Given the description of an element on the screen output the (x, y) to click on. 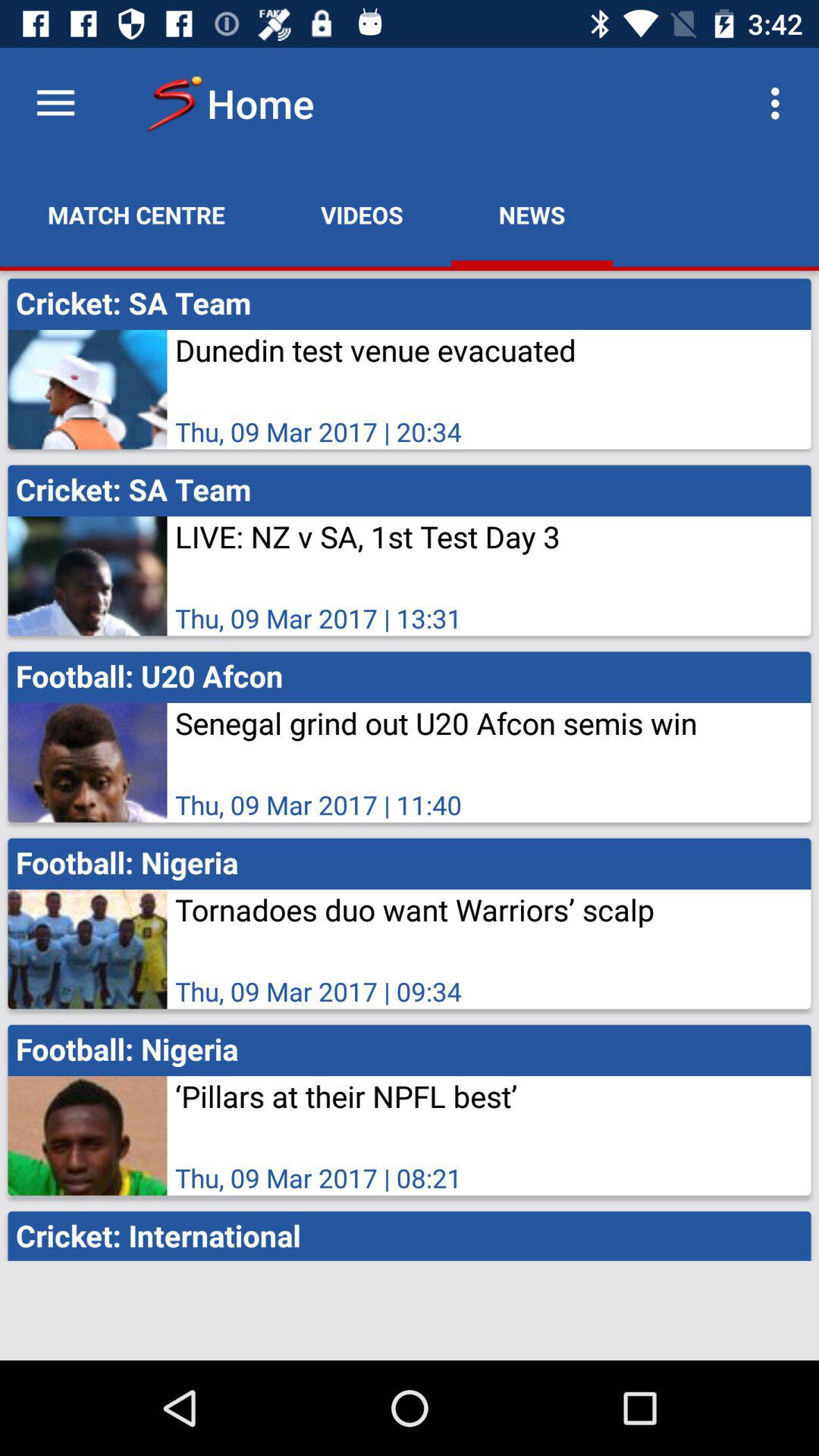
launch the icon above the cricket: sa team icon (779, 103)
